Given the description of an element on the screen output the (x, y) to click on. 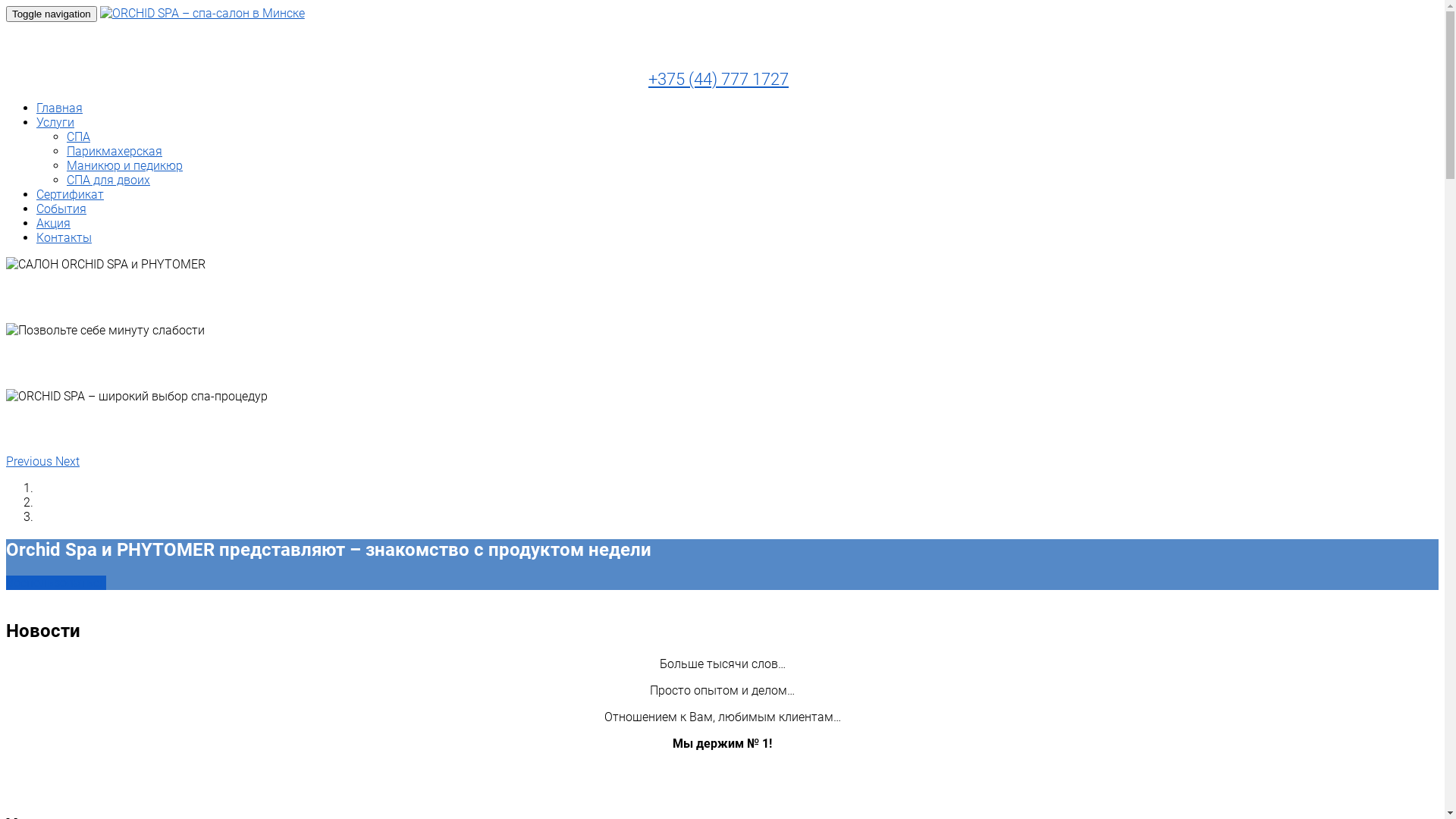
Previous Element type: text (30, 461)
Toggle navigation Element type: text (51, 13)
+375 (44) 777 1727 Element type: text (718, 78)
Next Element type: text (67, 461)
